Given the description of an element on the screen output the (x, y) to click on. 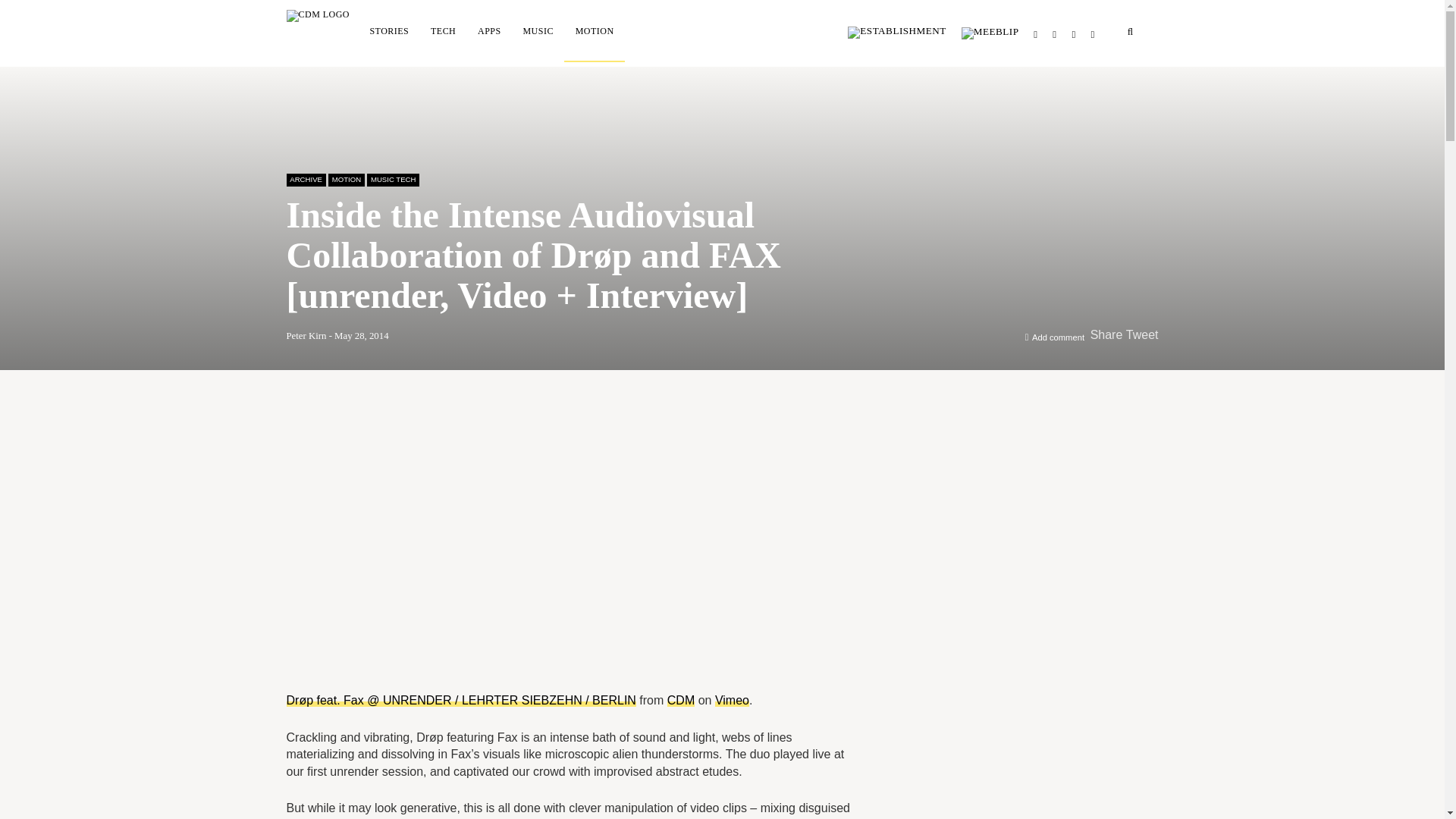
Tweet (1141, 334)
STORIES (389, 30)
Add comment (1058, 337)
ARCHIVE (306, 179)
MUSIC TECH (392, 179)
Vimeo (731, 699)
MOTION (594, 30)
Share (1106, 334)
MOTION (347, 179)
CDM (680, 699)
